Given the description of an element on the screen output the (x, y) to click on. 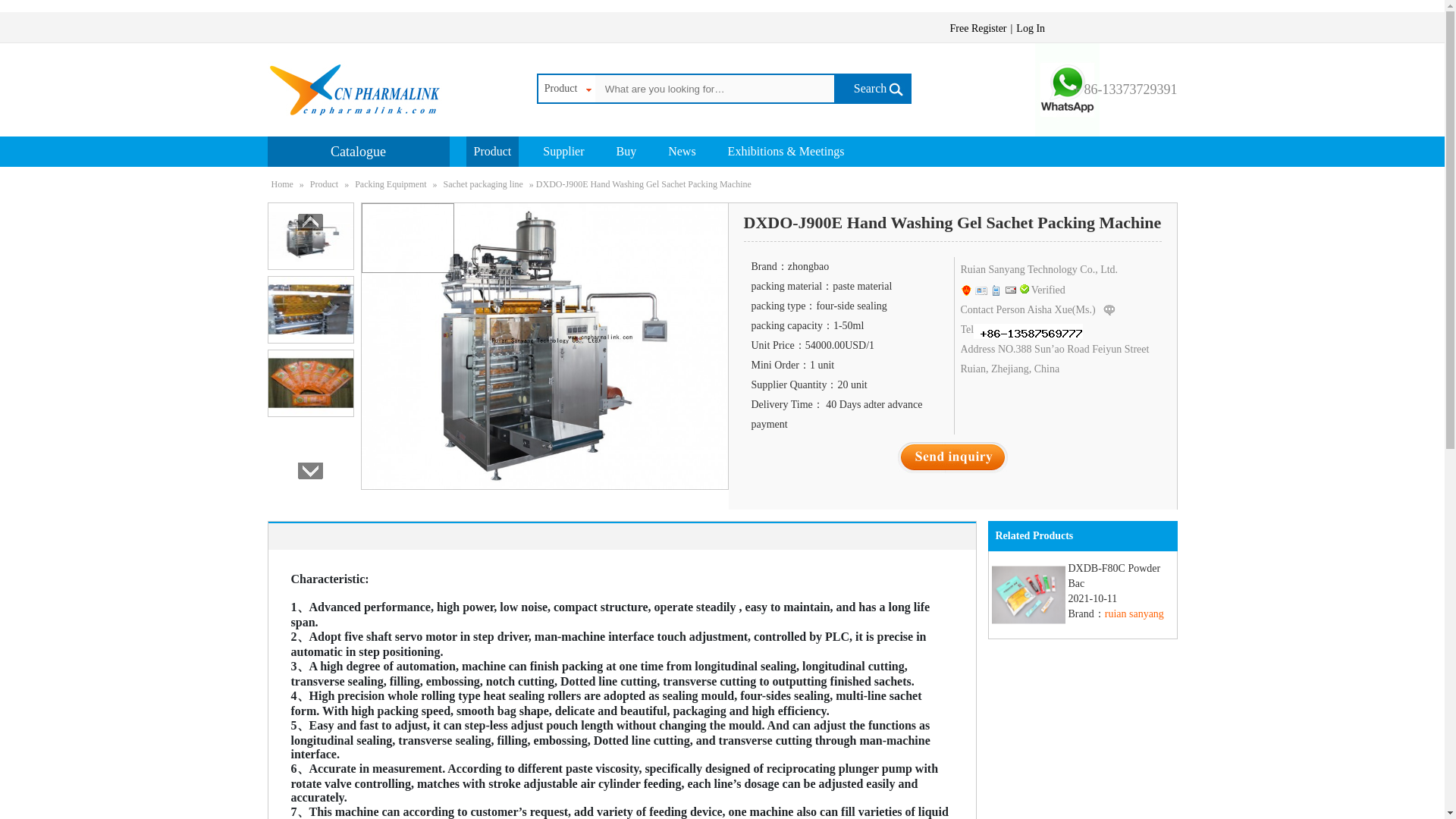
Product (564, 88)
Catalogue (357, 151)
Log In (1038, 269)
Free Register (1032, 28)
Search (979, 28)
